Given the description of an element on the screen output the (x, y) to click on. 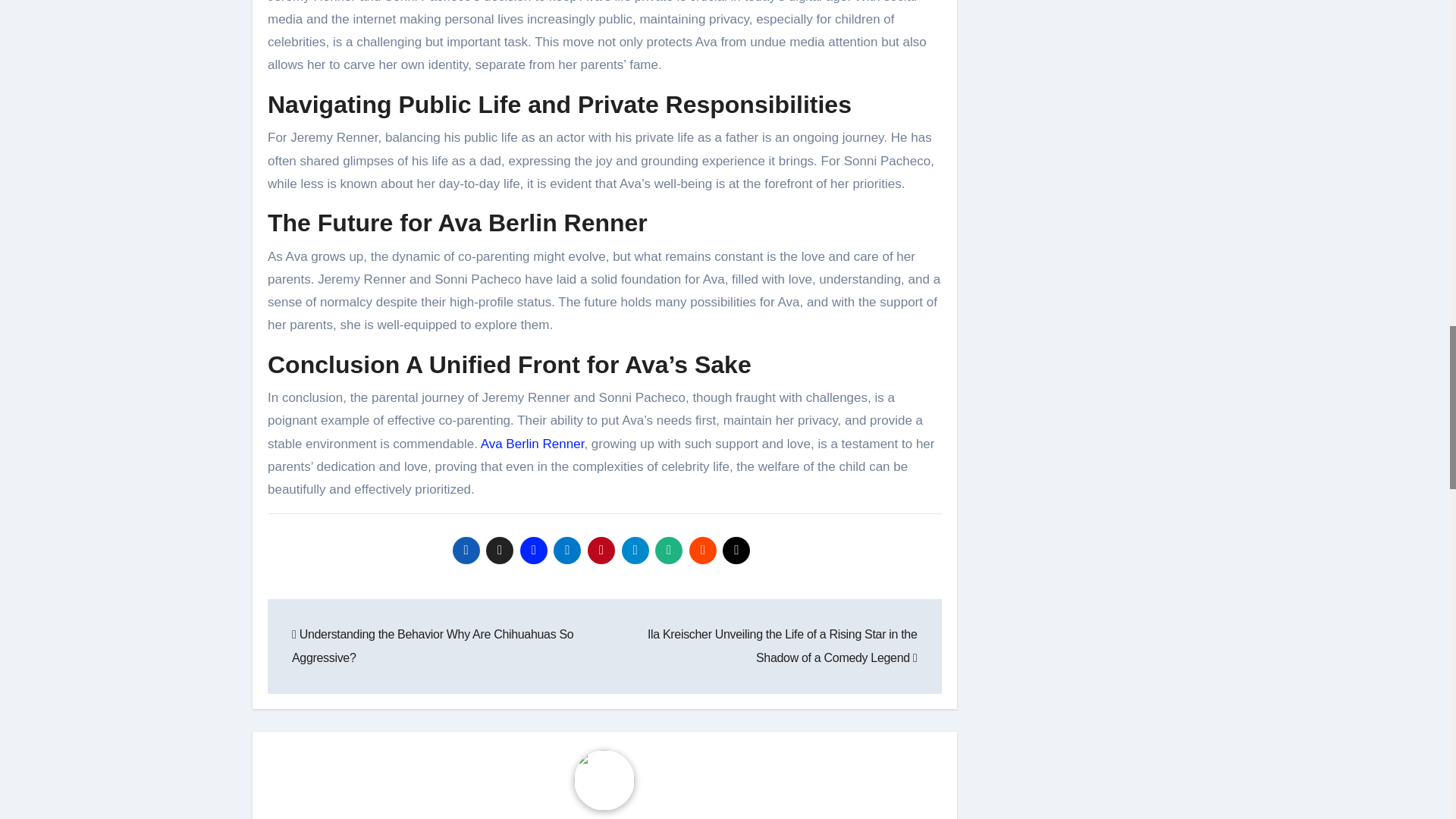
Understanding the Behavior Why Are Chihuahuas So Aggressive? (432, 645)
Ava Berlin Renner (532, 443)
